Given the description of an element on the screen output the (x, y) to click on. 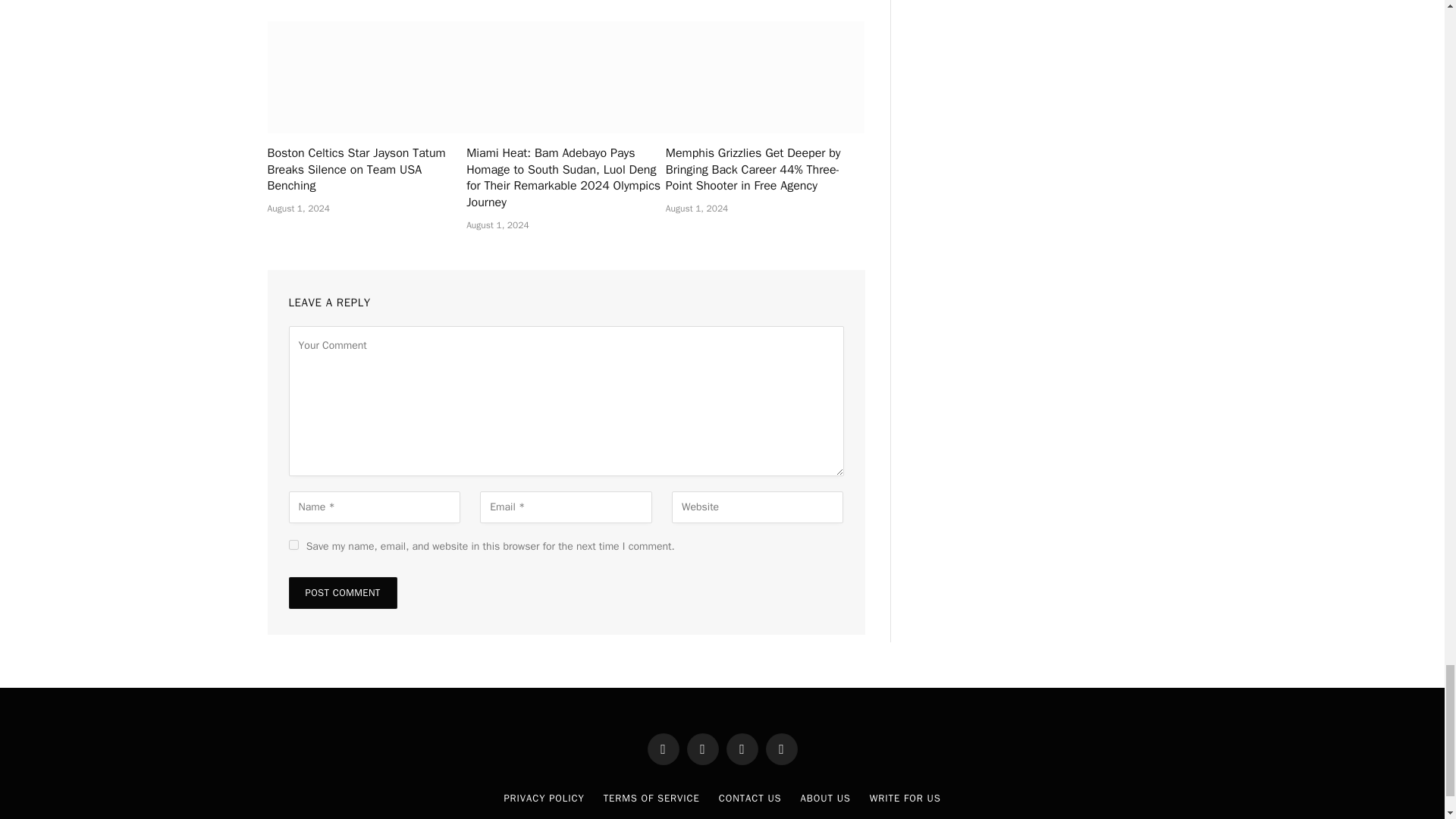
Post Comment (342, 593)
yes (293, 544)
